Given the description of an element on the screen output the (x, y) to click on. 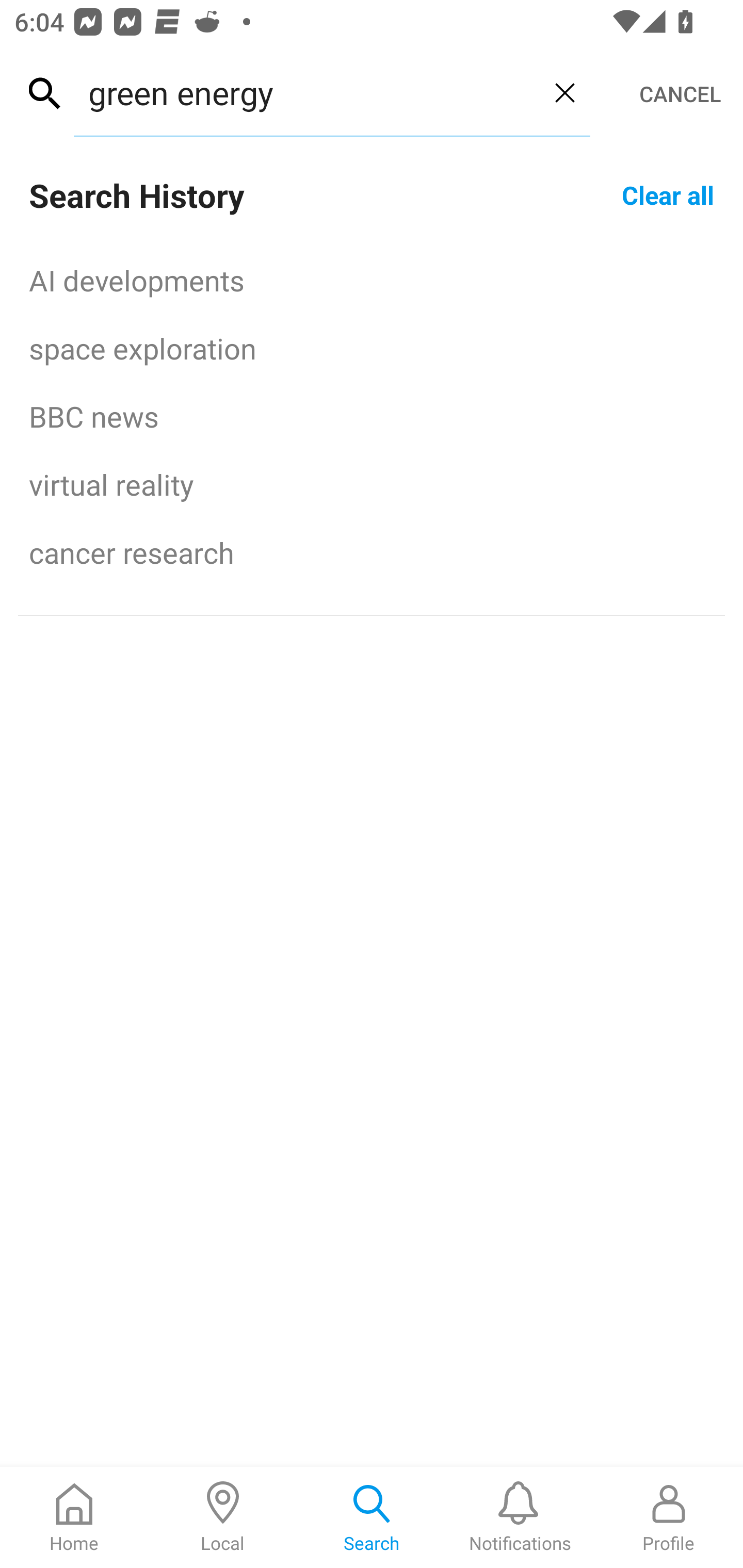
Clear query (564, 92)
CANCEL (680, 93)
green energy (306, 92)
Clear all (667, 194)
AI developments (371, 279)
space exploration (371, 347)
BBC news (371, 416)
virtual reality (371, 484)
cancer research (371, 552)
Home (74, 1517)
Local (222, 1517)
Notifications (519, 1517)
Profile (668, 1517)
